Given the description of an element on the screen output the (x, y) to click on. 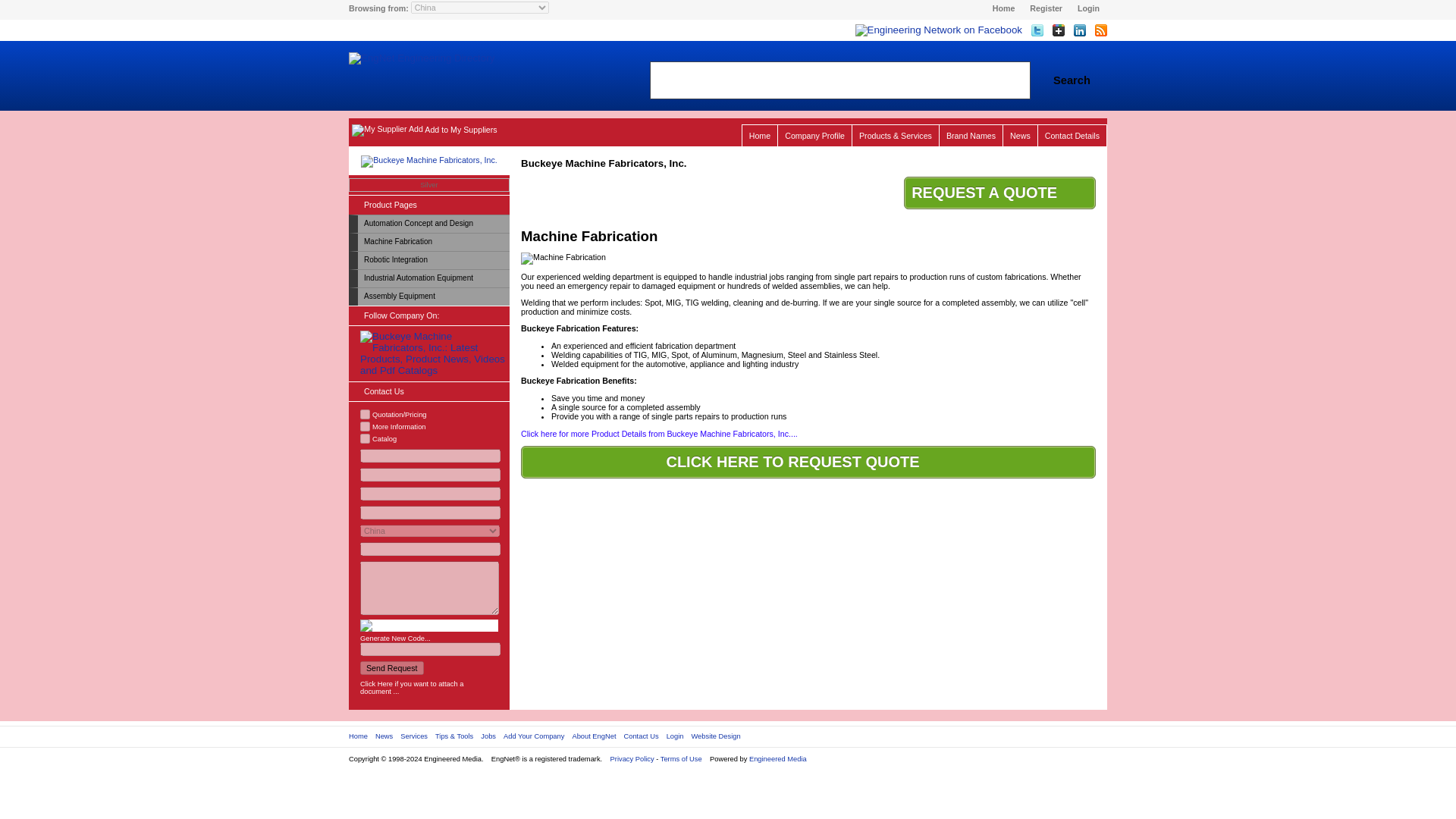
Company Profile (814, 135)
Home (759, 135)
REQUEST A QUOTE (1000, 192)
Contact Details (1071, 135)
Automation Concept and Design (433, 223)
Search (1071, 80)
on (364, 438)
RSS Feed of Latest Products and News (1096, 32)
Robotic Integration (433, 260)
Engineering Network on Twitter (1032, 32)
